Given the description of an element on the screen output the (x, y) to click on. 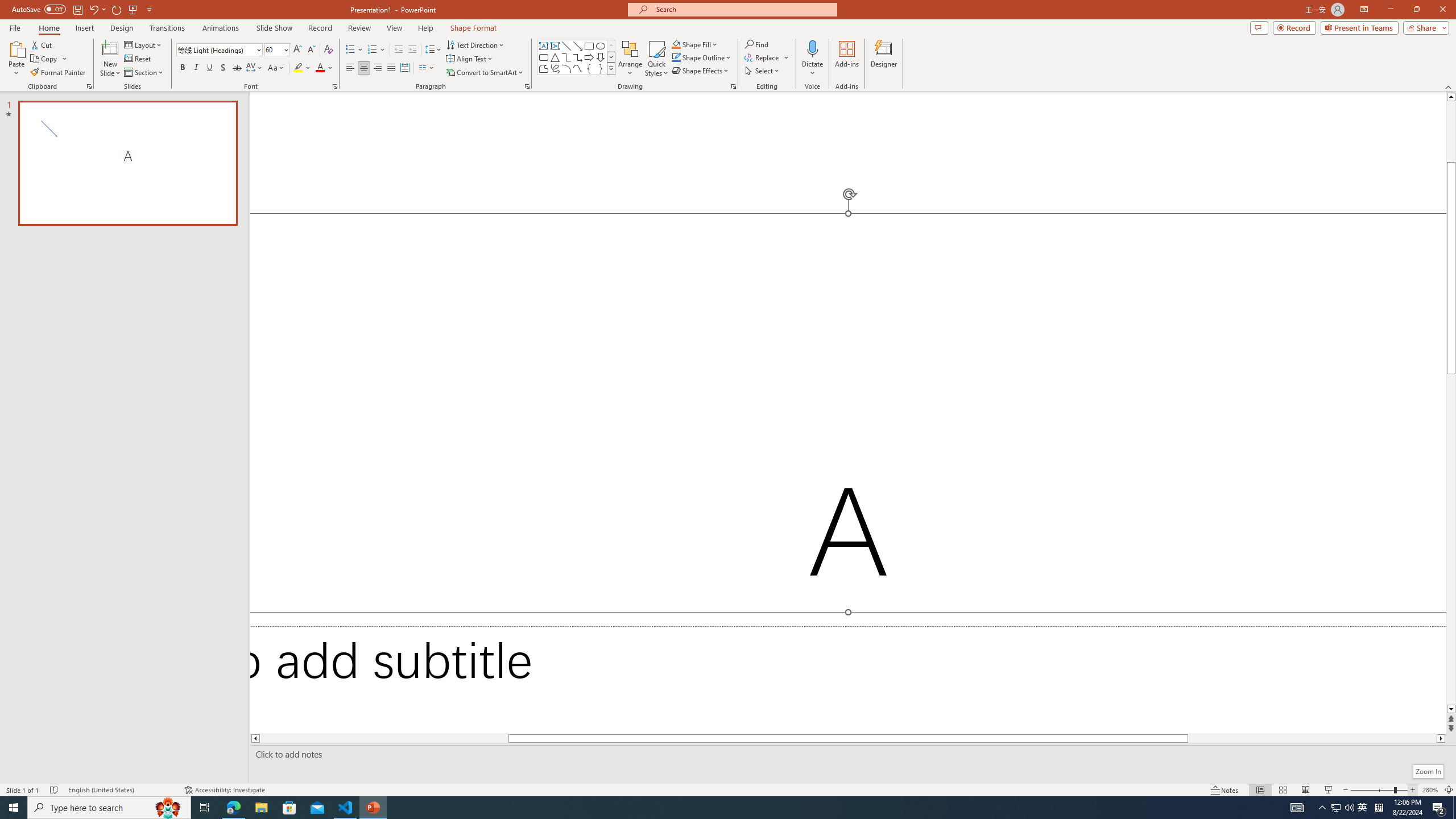
Subtitle TextBox (847, 679)
